Given the description of an element on the screen output the (x, y) to click on. 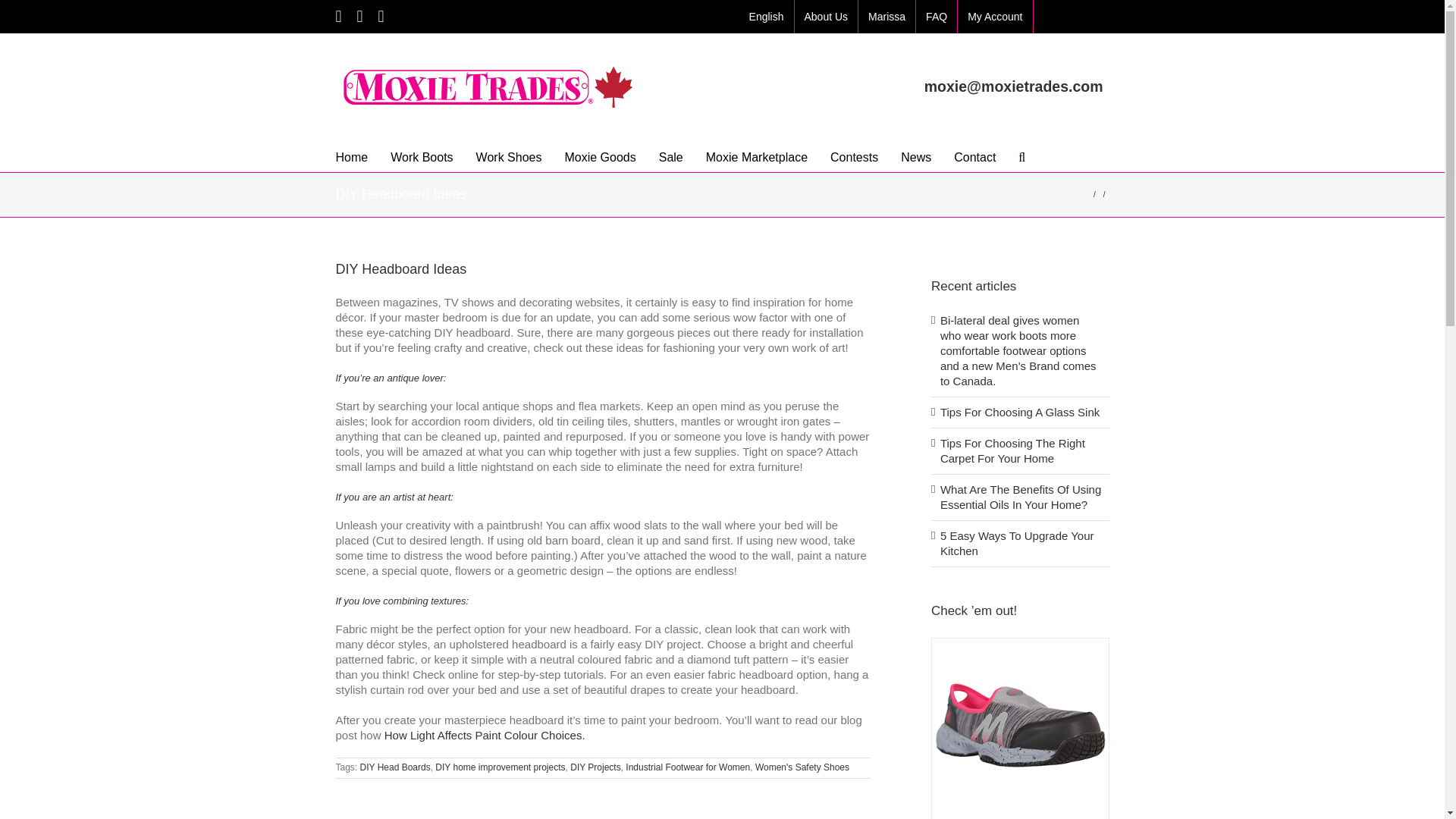
My Account (995, 16)
FAQ (935, 16)
Sale (670, 155)
Instagram (359, 16)
Facebook (337, 16)
Work Boots (421, 155)
English (766, 16)
Home (351, 155)
Contests (853, 155)
Facebook (337, 16)
Pinterest (381, 16)
Instagram (359, 16)
Pinterest (381, 16)
English (766, 16)
Search (1021, 155)
